Given the description of an element on the screen output the (x, y) to click on. 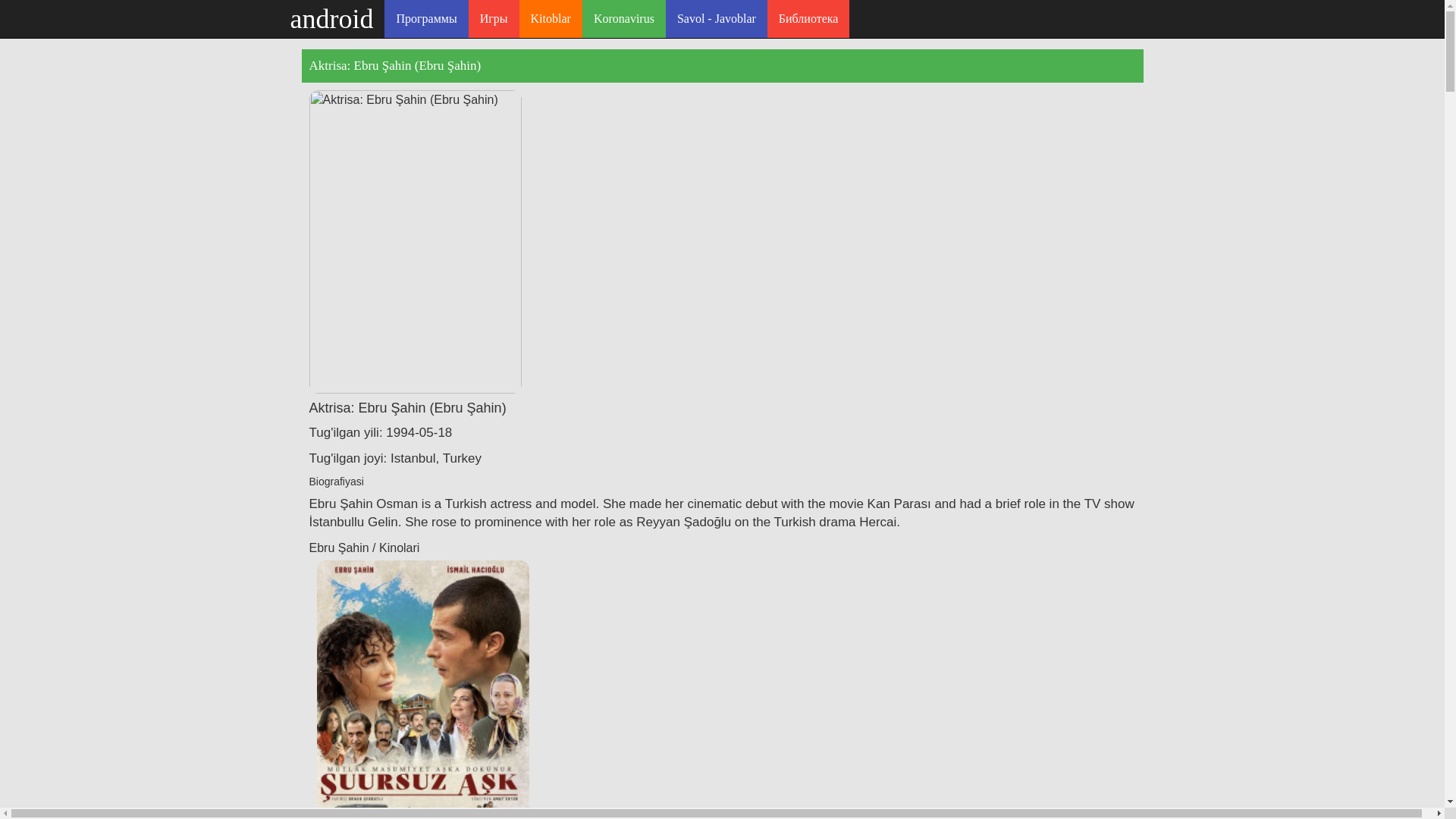
android (332, 18)
Savol - Javoblar (716, 18)
Koronavirus (623, 18)
Kitoblar (550, 18)
